Given the description of an element on the screen output the (x, y) to click on. 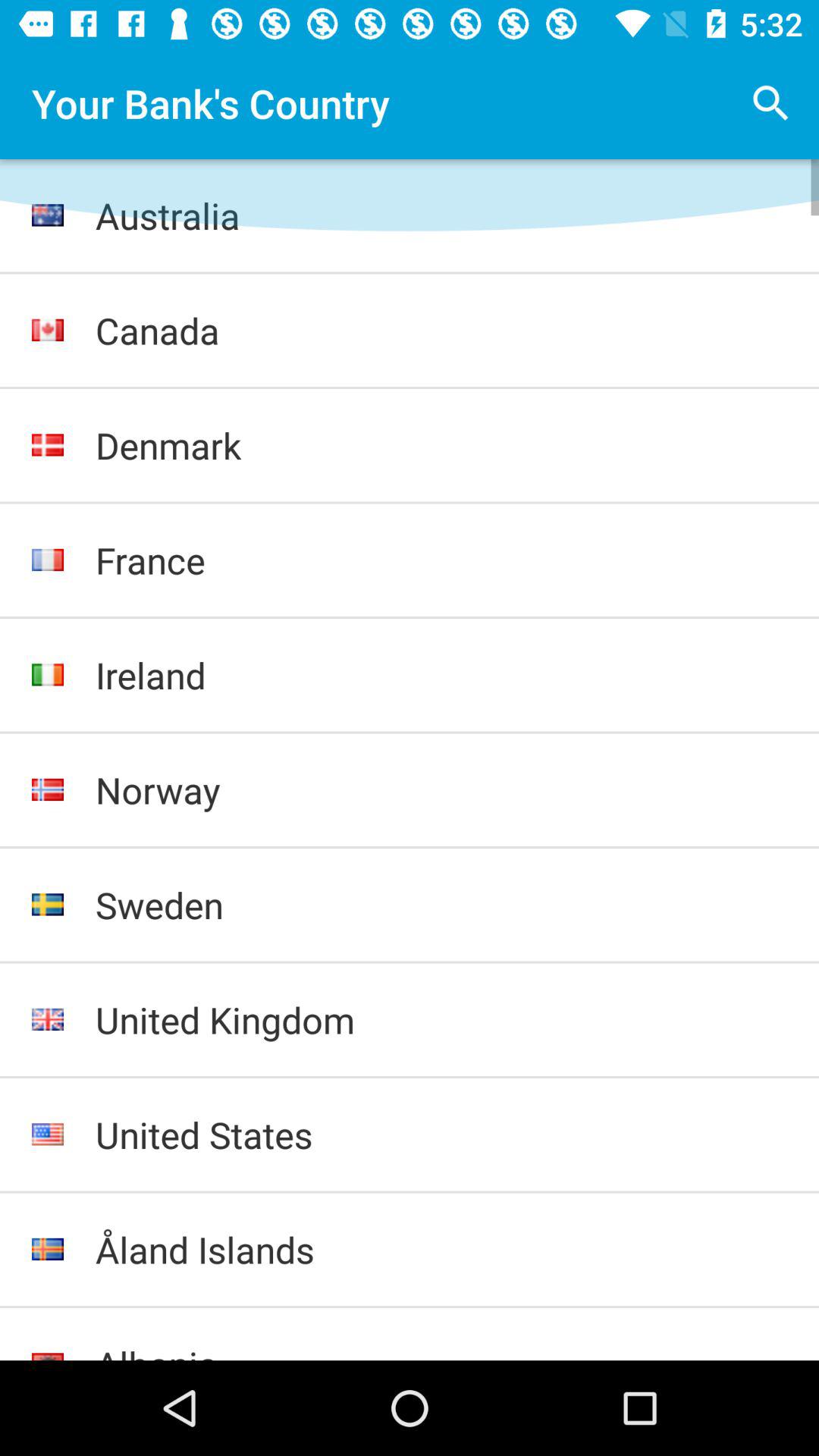
launch sweden (441, 904)
